Given the description of an element on the screen output the (x, y) to click on. 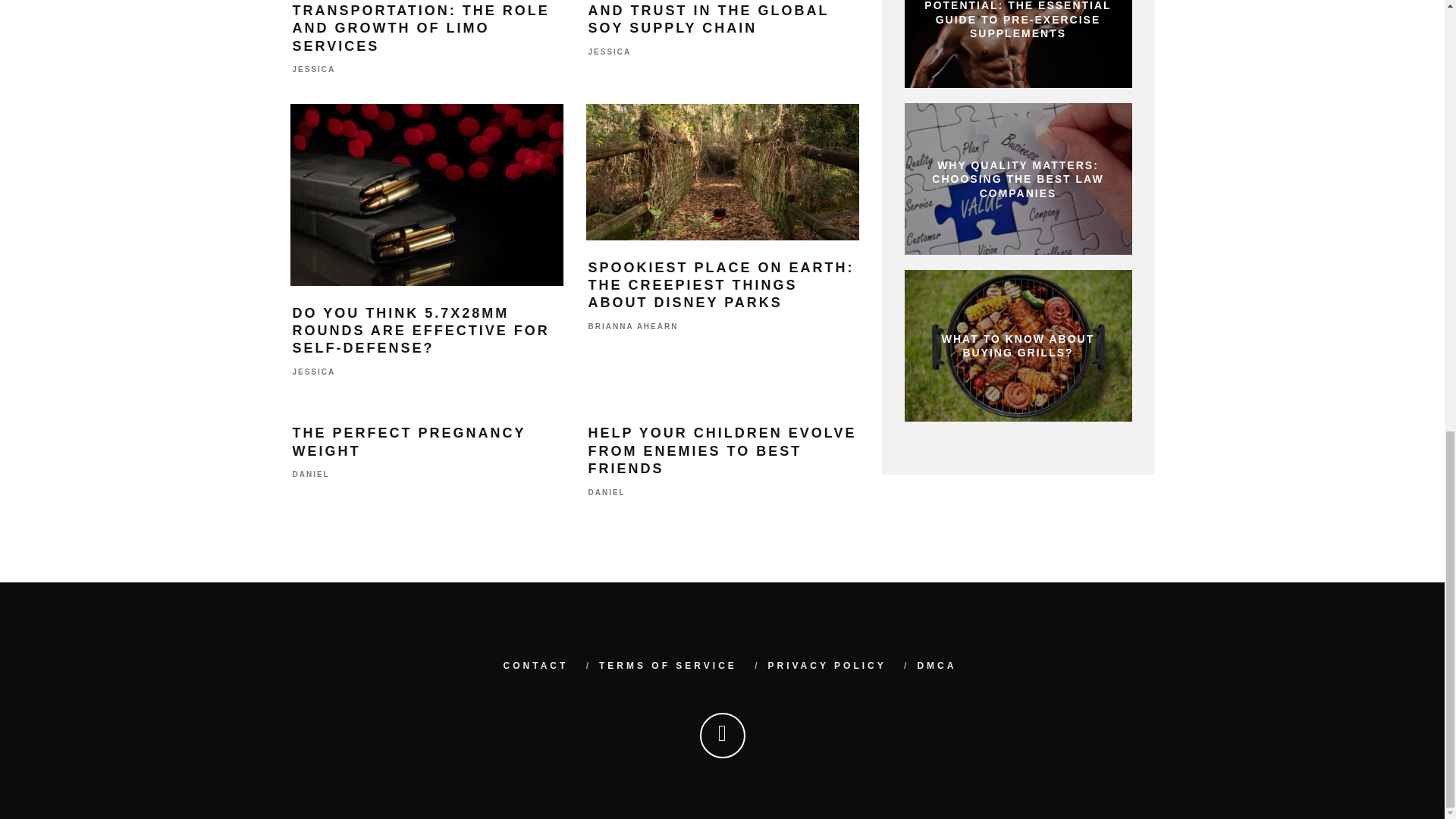
DANIEL (607, 492)
Do You Think 5.7x28mm Rounds Are Effective For Self-defense? (425, 194)
DANIEL (311, 474)
JESSICA (609, 51)
HELP YOUR CHILDREN EVOLVE FROM ENEMIES TO BEST FRIENDS (722, 450)
Why Quality Matters: Choosing the Best Law Companies (1017, 178)
What to Know About Buying Grills? (1017, 345)
